Given the description of an element on the screen output the (x, y) to click on. 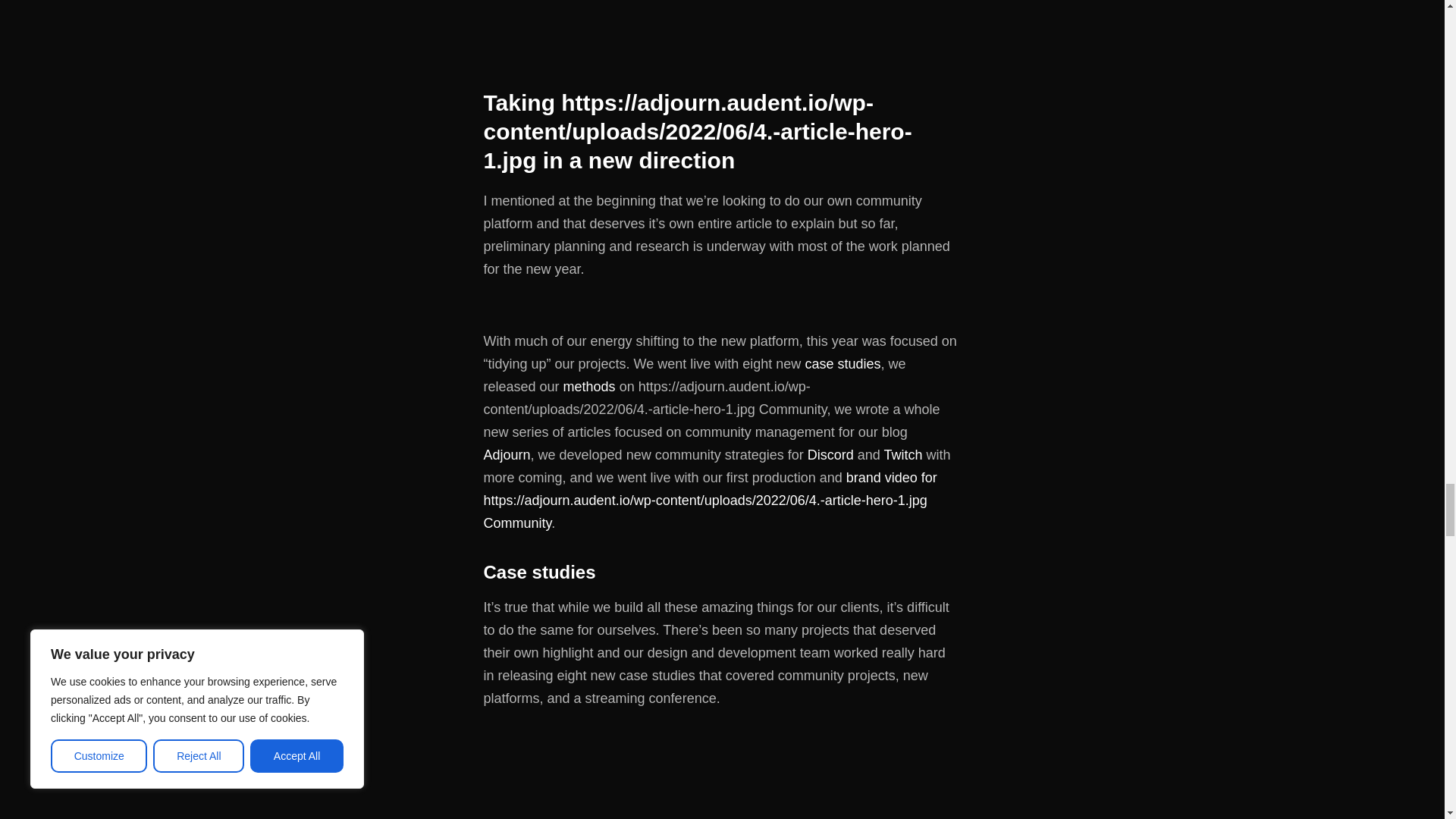
Preview of Audentio case studies 2021 (721, 777)
